Given the description of an element on the screen output the (x, y) to click on. 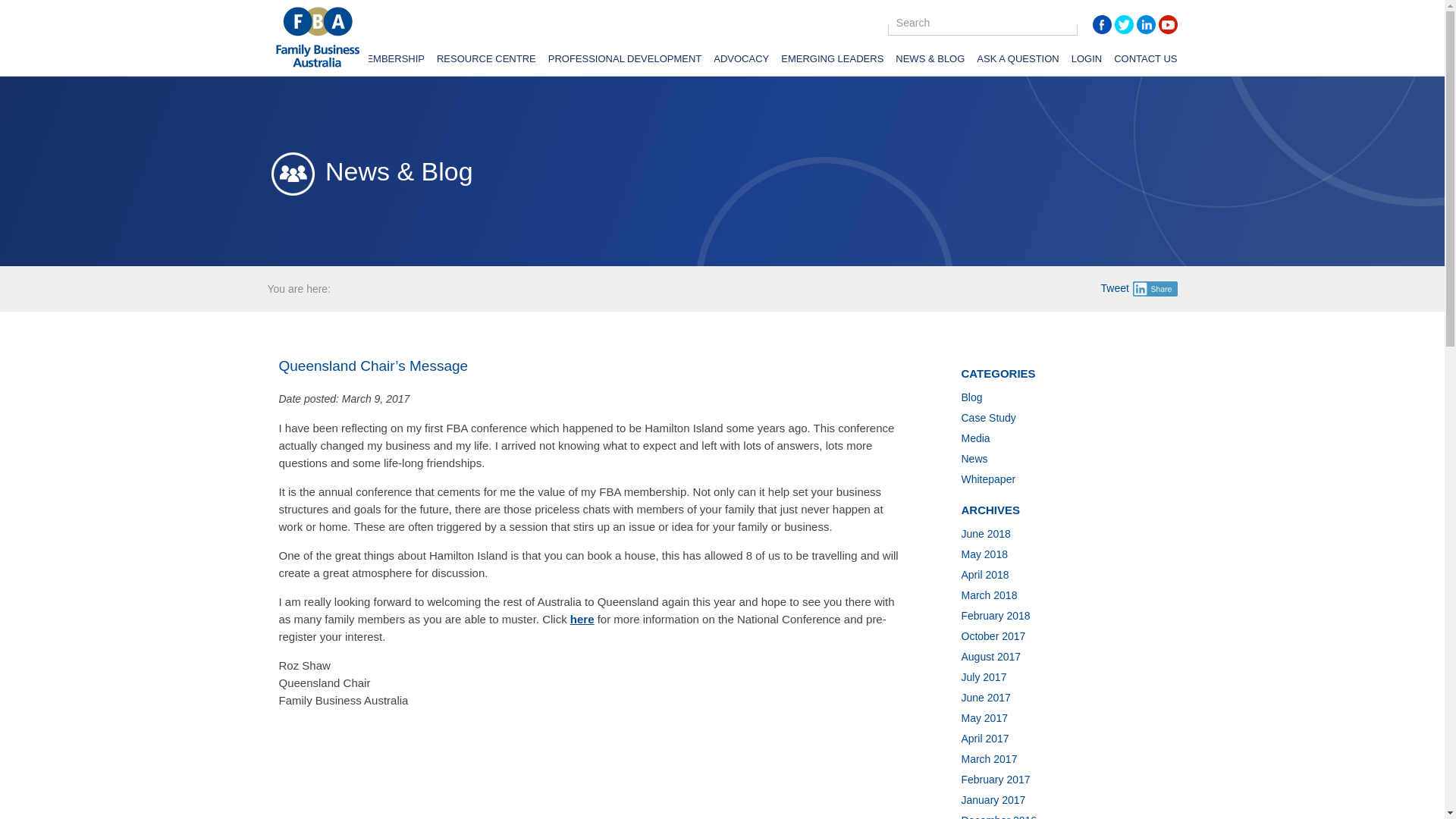
ABOUT US (320, 60)
RESOURCE CENTRE (485, 60)
ASK A QUESTION (1017, 60)
ADVOCACY (740, 60)
MEMBERSHIP (391, 60)
PROFESSIONAL DEVELOPMENT (624, 60)
LOGIN (1086, 60)
EMERGING LEADERS (831, 60)
